Given the description of an element on the screen output the (x, y) to click on. 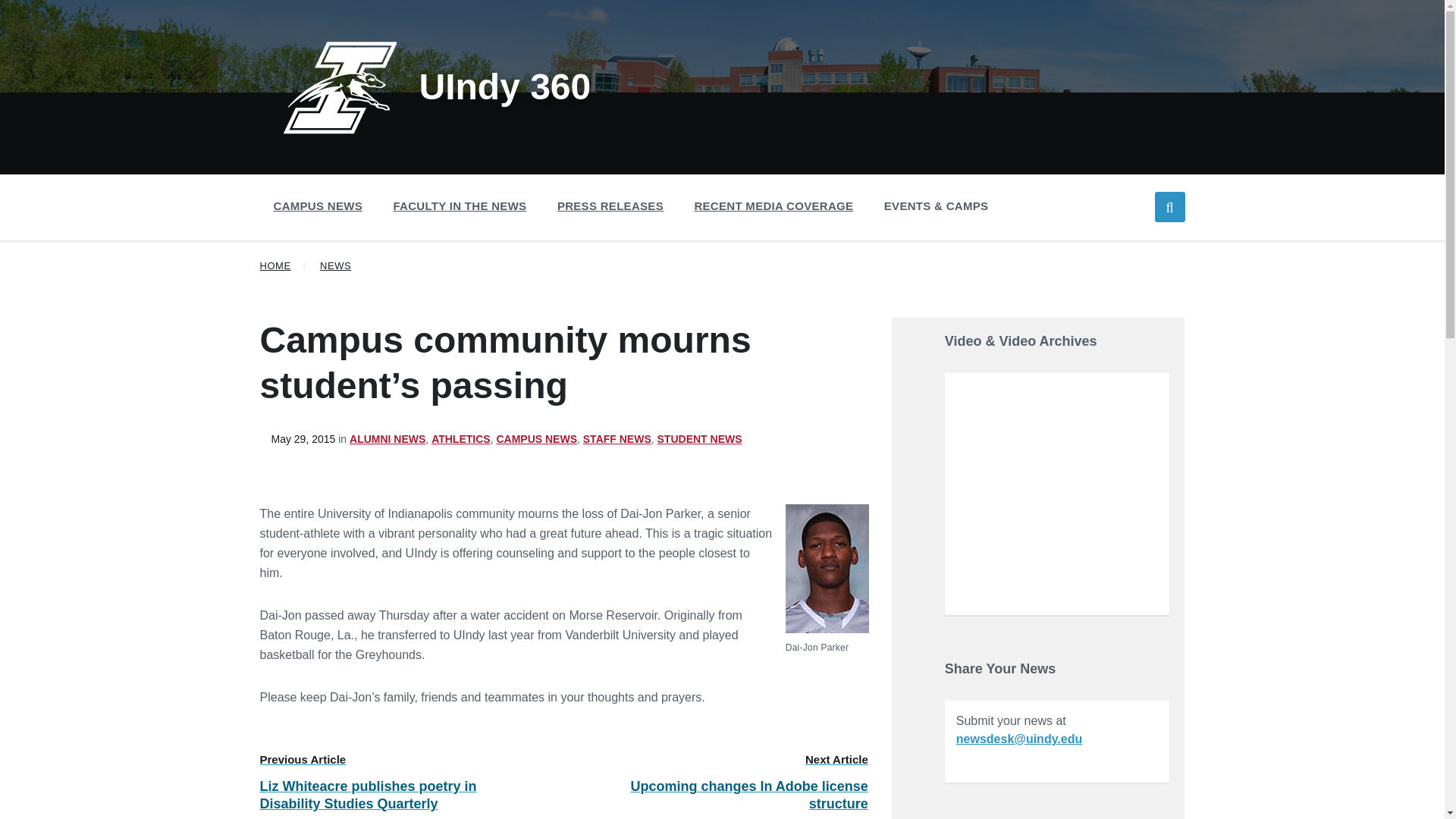
RECENT MEDIA COVERAGE (772, 205)
FACULTY IN THE NEWS (459, 205)
PRESS RELEASES (609, 205)
Expand search (1169, 206)
Category (539, 439)
YouTube video player (1057, 492)
UIndy 360 (436, 87)
CAMPUS NEWS (317, 205)
